Given the description of an element on the screen output the (x, y) to click on. 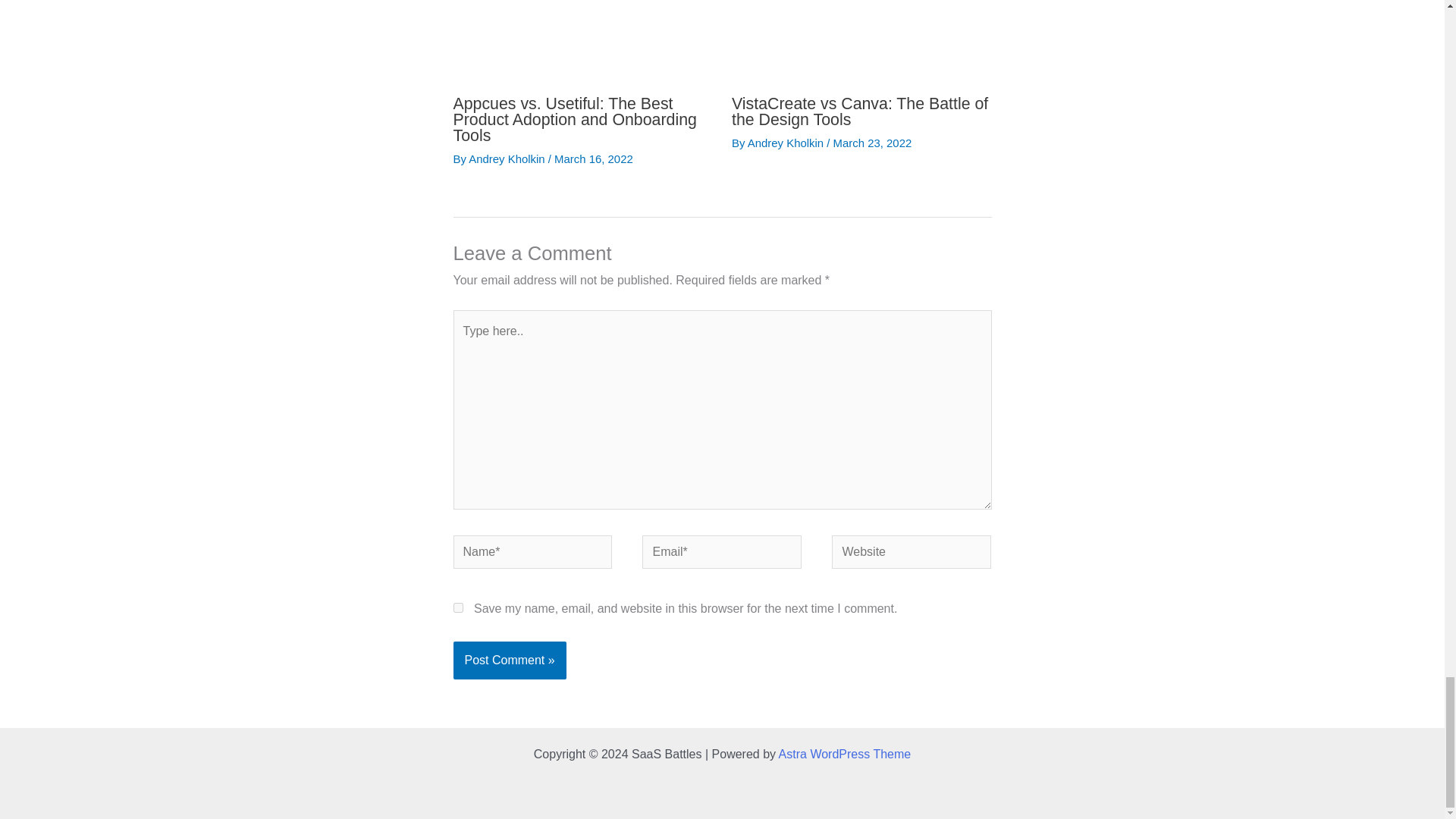
Andrey Kholkin (508, 158)
Andrey Kholkin (787, 142)
Astra WordPress Theme (844, 753)
yes (457, 607)
VistaCreate vs Canva: The Battle of the Design Tools (860, 111)
View all posts by Andrey Kholkin (787, 142)
View all posts by Andrey Kholkin (508, 158)
